Given the description of an element on the screen output the (x, y) to click on. 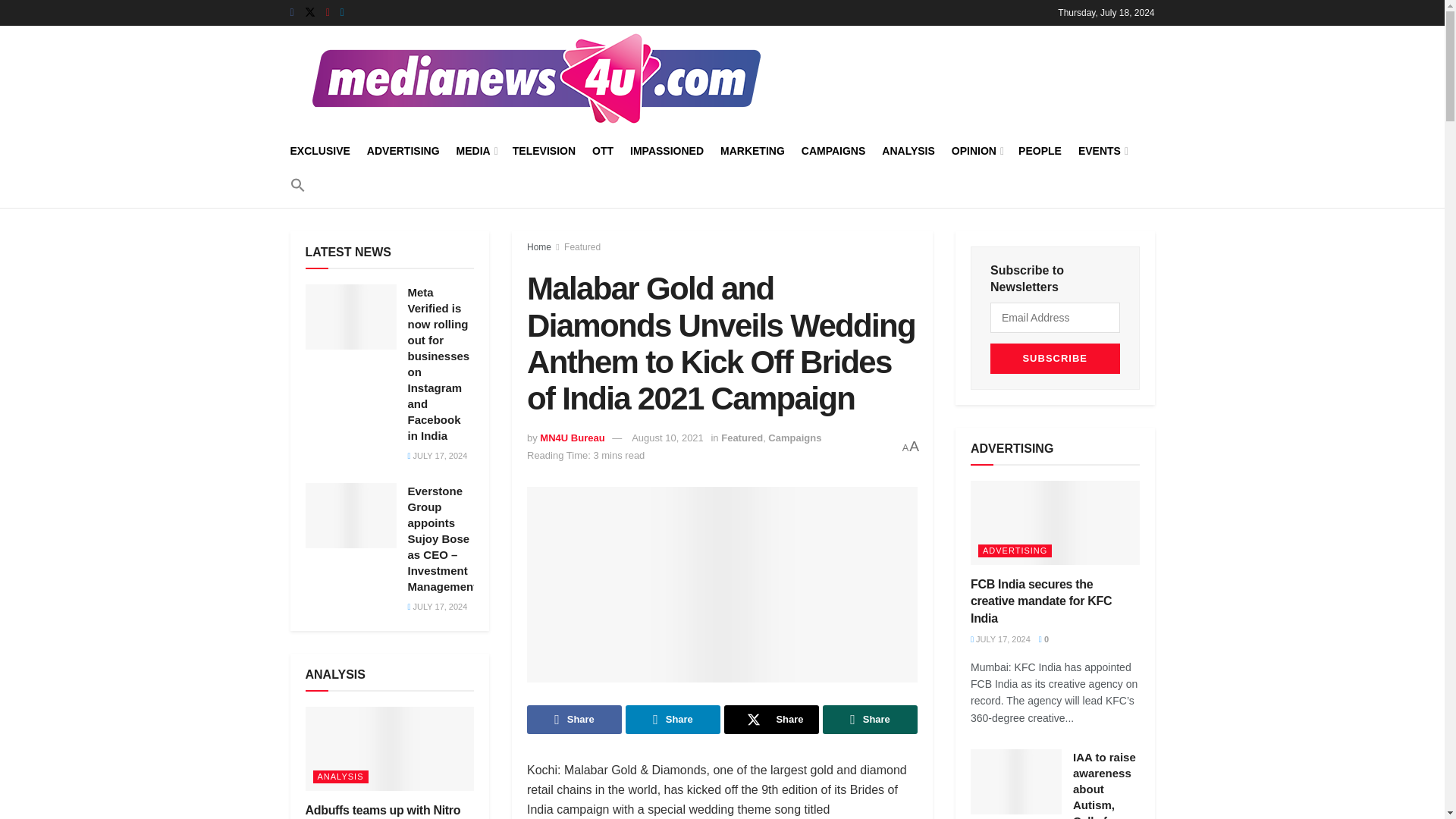
OPINION (976, 150)
TELEVISION (543, 150)
MEDIA (476, 150)
Subscribe (1054, 358)
EVENTS (1101, 150)
EXCLUSIVE (319, 150)
ANALYSIS (908, 150)
CAMPAIGNS (834, 150)
MARKETING (752, 150)
ADVERTISING (402, 150)
IMPASSIONED (666, 150)
PEOPLE (1039, 150)
OTT (602, 150)
